Given the description of an element on the screen output the (x, y) to click on. 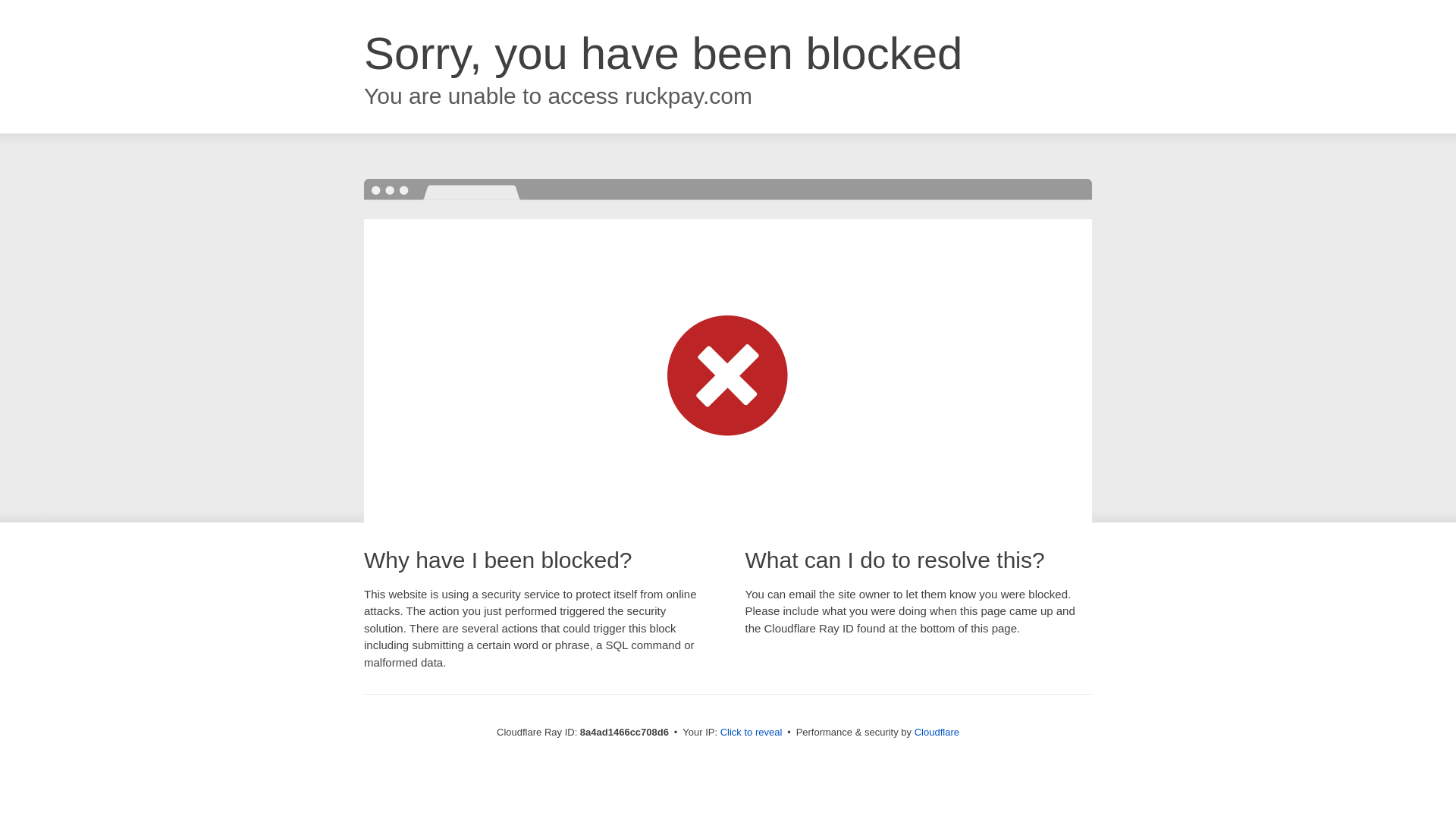
Click to reveal (751, 732)
Cloudflare (936, 731)
